Given the description of an element on the screen output the (x, y) to click on. 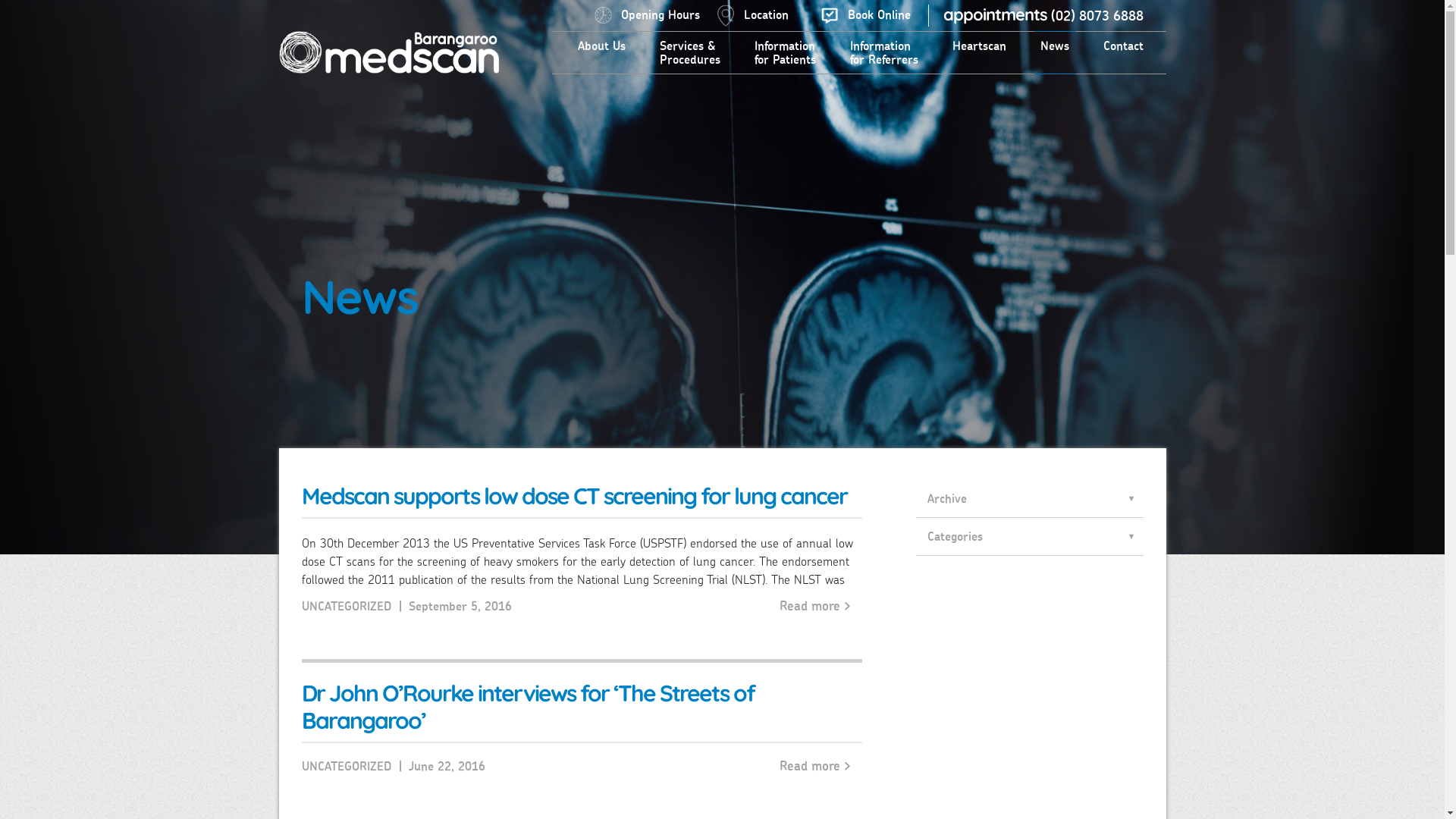
Heartscan Element type: text (979, 45)
Read more > Element type: text (814, 765)
Book Online Element type: text (865, 15)
(02) 8073 6888 Element type: text (1097, 15)
Opening Hours Element type: text (646, 15)
Services &
Procedures Element type: text (689, 52)
About Us Element type: text (601, 45)
Location Element type: text (752, 15)
Information
for Referrers Element type: text (883, 52)
Contact Element type: text (1122, 45)
Read more > Element type: text (814, 605)
News Element type: text (1054, 45)
Information
for Patients Element type: text (784, 52)
